Given the description of an element on the screen output the (x, y) to click on. 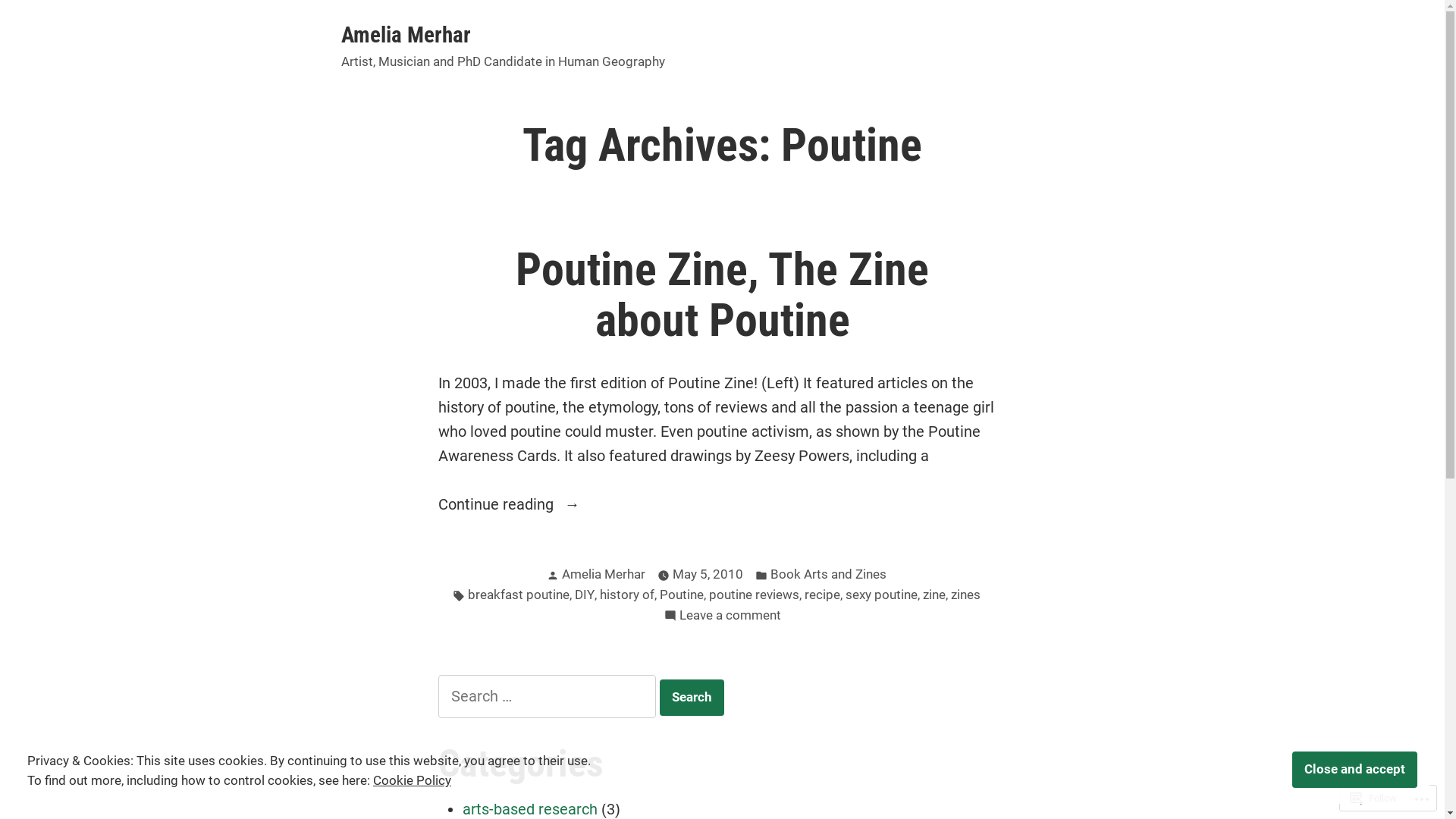
history of Element type: text (626, 595)
Poutine Element type: text (681, 595)
DIY Element type: text (584, 595)
breakfast poutine Element type: text (517, 595)
Cookie Policy Element type: text (412, 780)
May 5, 2010 Element type: text (706, 574)
recipe Element type: text (821, 595)
sexy poutine Element type: text (880, 595)
arts-based research Element type: text (529, 809)
Follow Element type: text (1373, 797)
Search Element type: text (691, 697)
Amelia Merhar Element type: text (602, 574)
zine Element type: text (933, 595)
zines Element type: text (965, 595)
Continue reading Element type: text (722, 504)
Leave a comment Element type: text (730, 615)
Close and accept Element type: text (1354, 769)
poutine reviews Element type: text (753, 595)
Poutine Zine, The Zine about Poutine Element type: text (721, 295)
Book Arts and Zines Element type: text (828, 574)
Amelia Merhar Element type: text (405, 34)
